Given the description of an element on the screen output the (x, y) to click on. 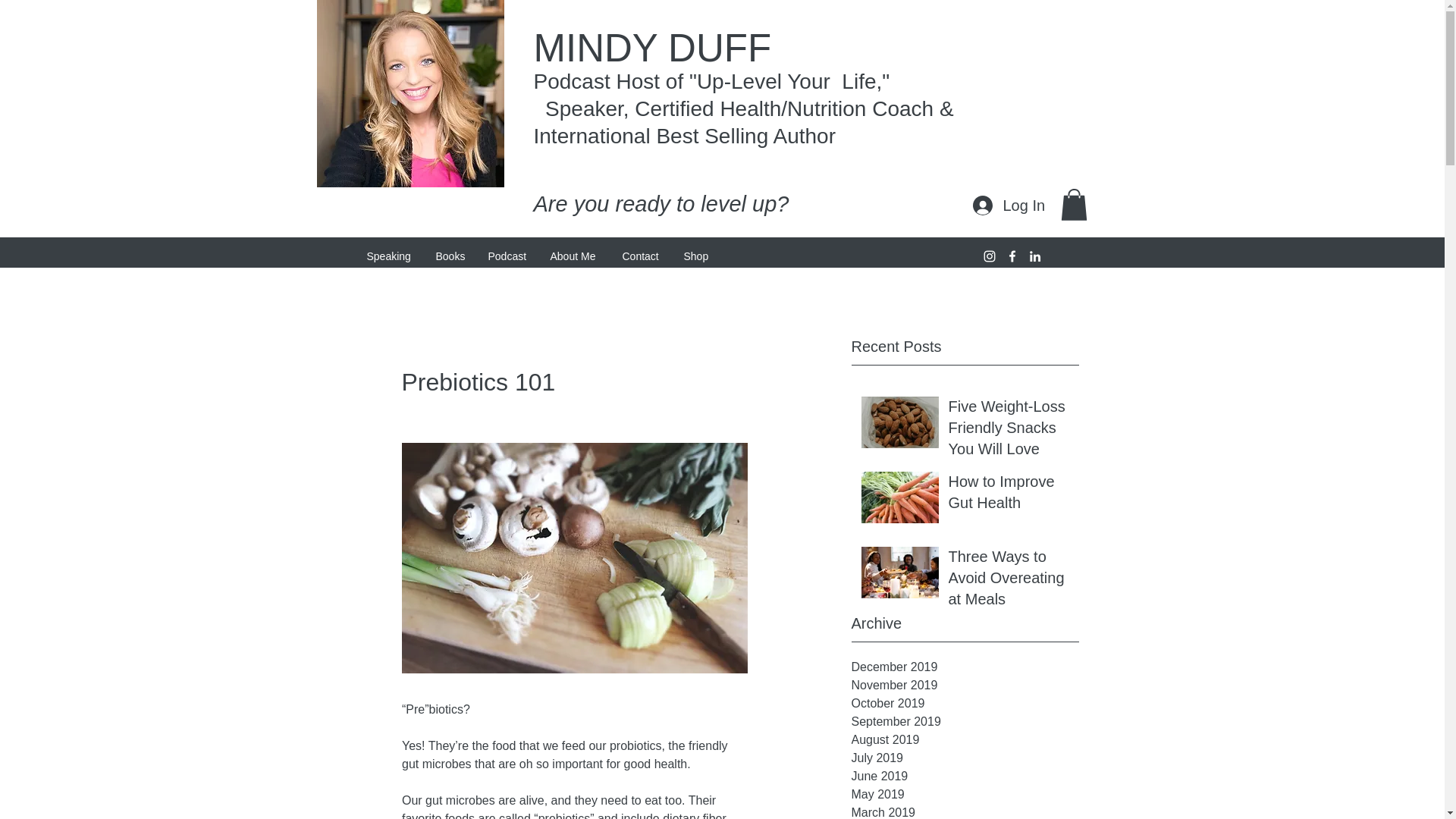
Speaking (389, 255)
Five Weight-Loss Friendly Snacks You Will Love (1007, 430)
March 2019 (964, 811)
Log In (1006, 205)
November 2019 (964, 685)
June 2019 (964, 776)
August 2019 (964, 740)
Three Ways to Avoid Overeating at Meals (1007, 580)
July 2019 (964, 758)
How to Improve Gut Health (1007, 494)
September 2019 (964, 721)
Shop (695, 255)
Podcast (507, 255)
Contact (641, 255)
Books (451, 255)
